Given the description of an element on the screen output the (x, y) to click on. 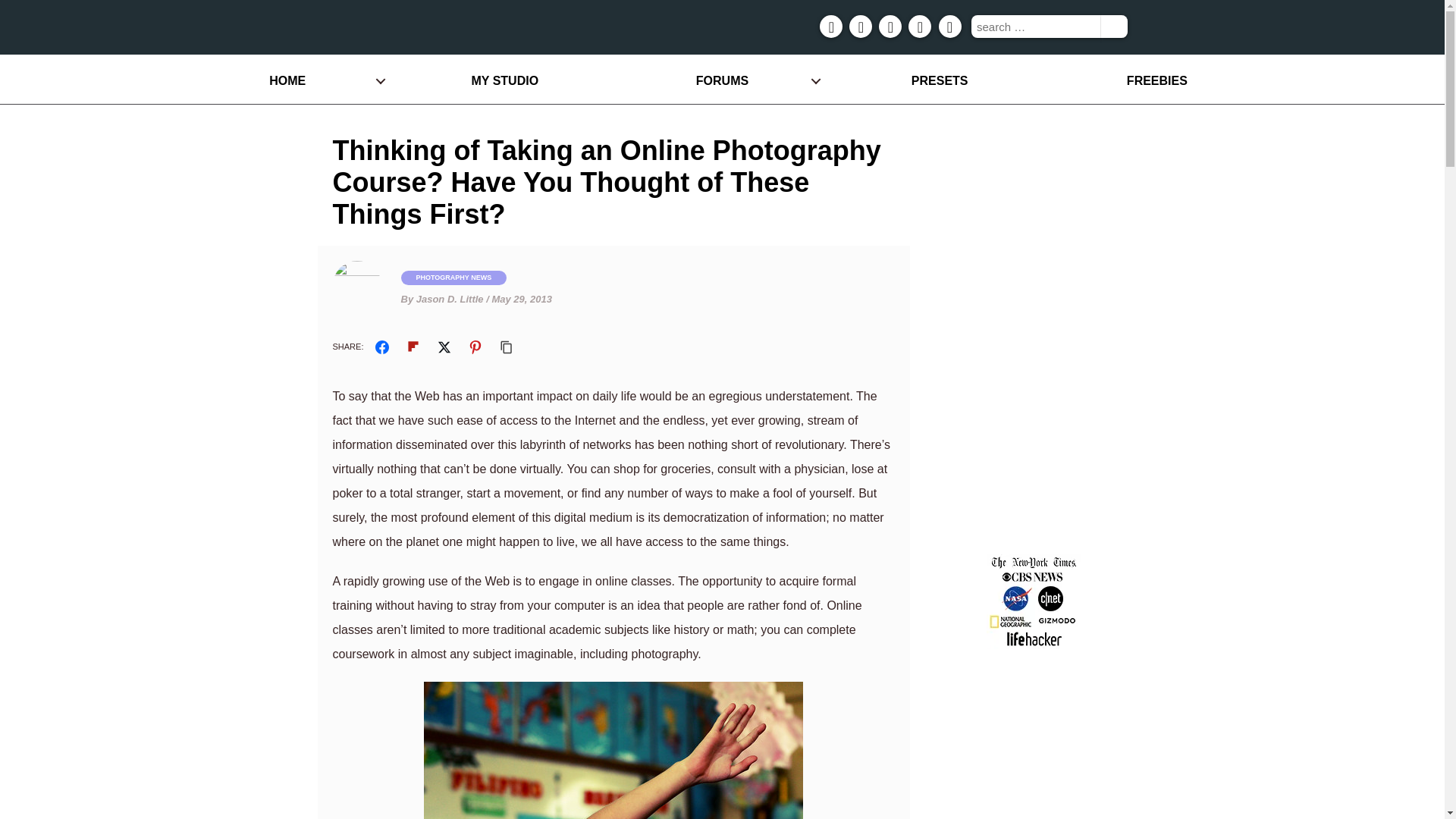
Share on Copy Link (506, 347)
Search (1113, 26)
Share on Pins (475, 347)
Share on Flipboard (412, 347)
HOME (287, 81)
Search (1113, 26)
FORUMS (722, 81)
Search (1113, 26)
Share on Shares (382, 347)
MY STUDIO (504, 81)
Share on Tweets (444, 347)
